Given the description of an element on the screen output the (x, y) to click on. 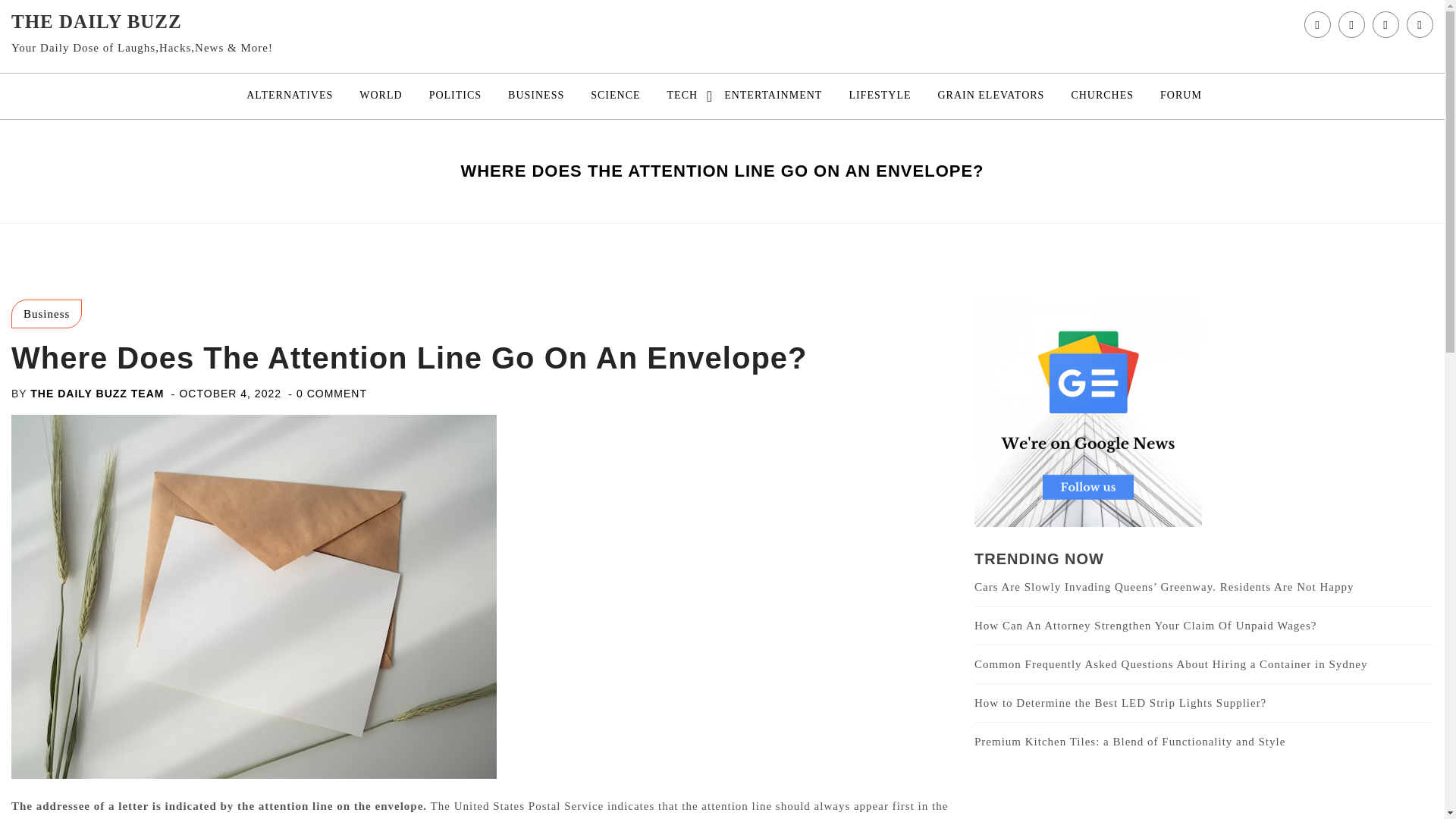
THE DAILY BUZZ TEAM (96, 393)
TECH (683, 95)
WORLD (380, 95)
FORUM (1180, 95)
ENTERTAINMENT (772, 95)
Premium Kitchen Tiles: a Blend of Functionality and Style (1129, 741)
GRAIN ELEVATORS (990, 95)
POLITICS (455, 95)
THE DAILY BUZZ (96, 21)
